Given the description of an element on the screen output the (x, y) to click on. 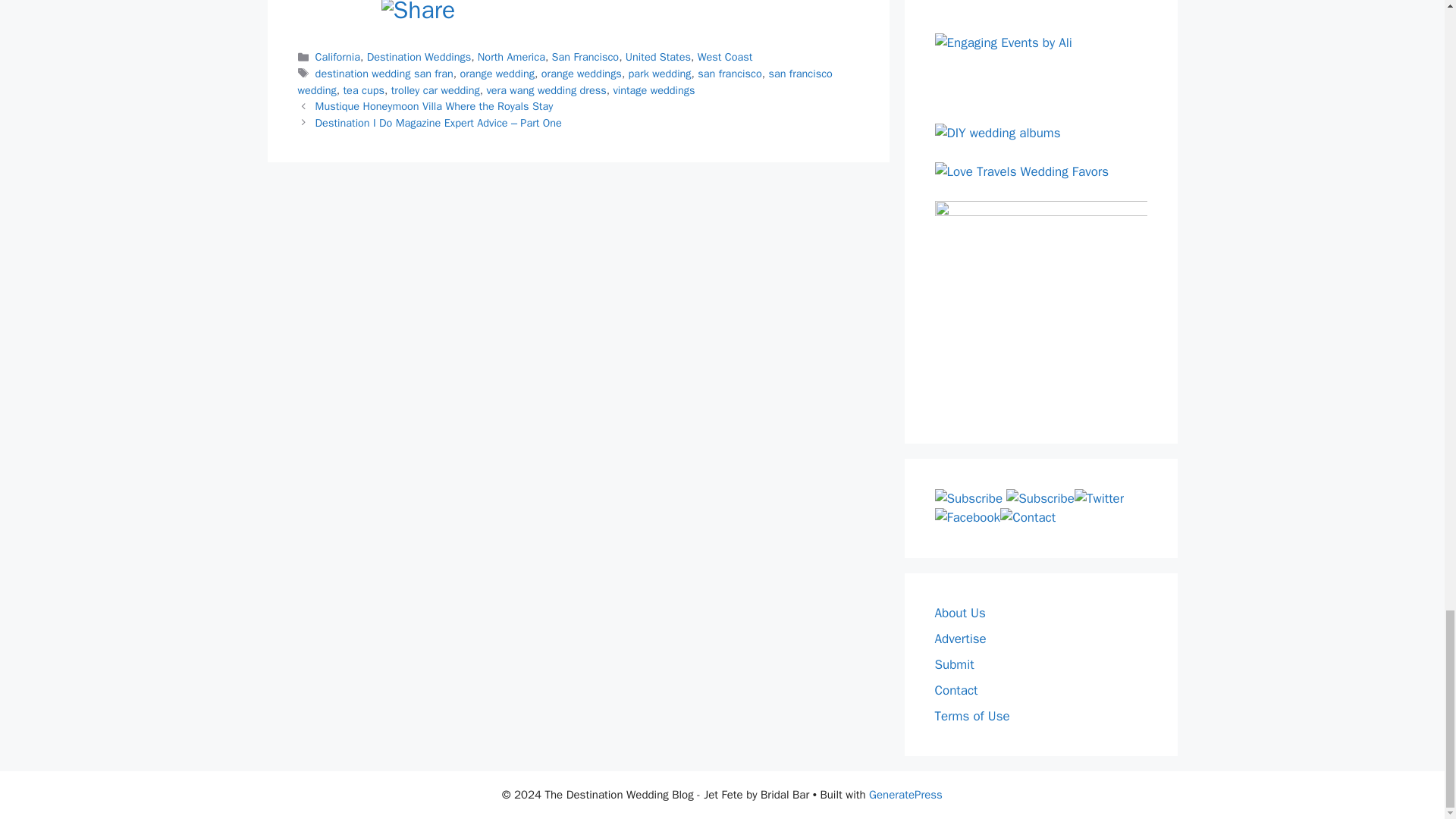
San Francisco (585, 56)
West Coast (724, 56)
orange weddings (581, 73)
North America (510, 56)
destination wedding san fran (383, 73)
orange wedding (497, 73)
United States (658, 56)
California (337, 56)
Destination Weddings (418, 56)
